Given the description of an element on the screen output the (x, y) to click on. 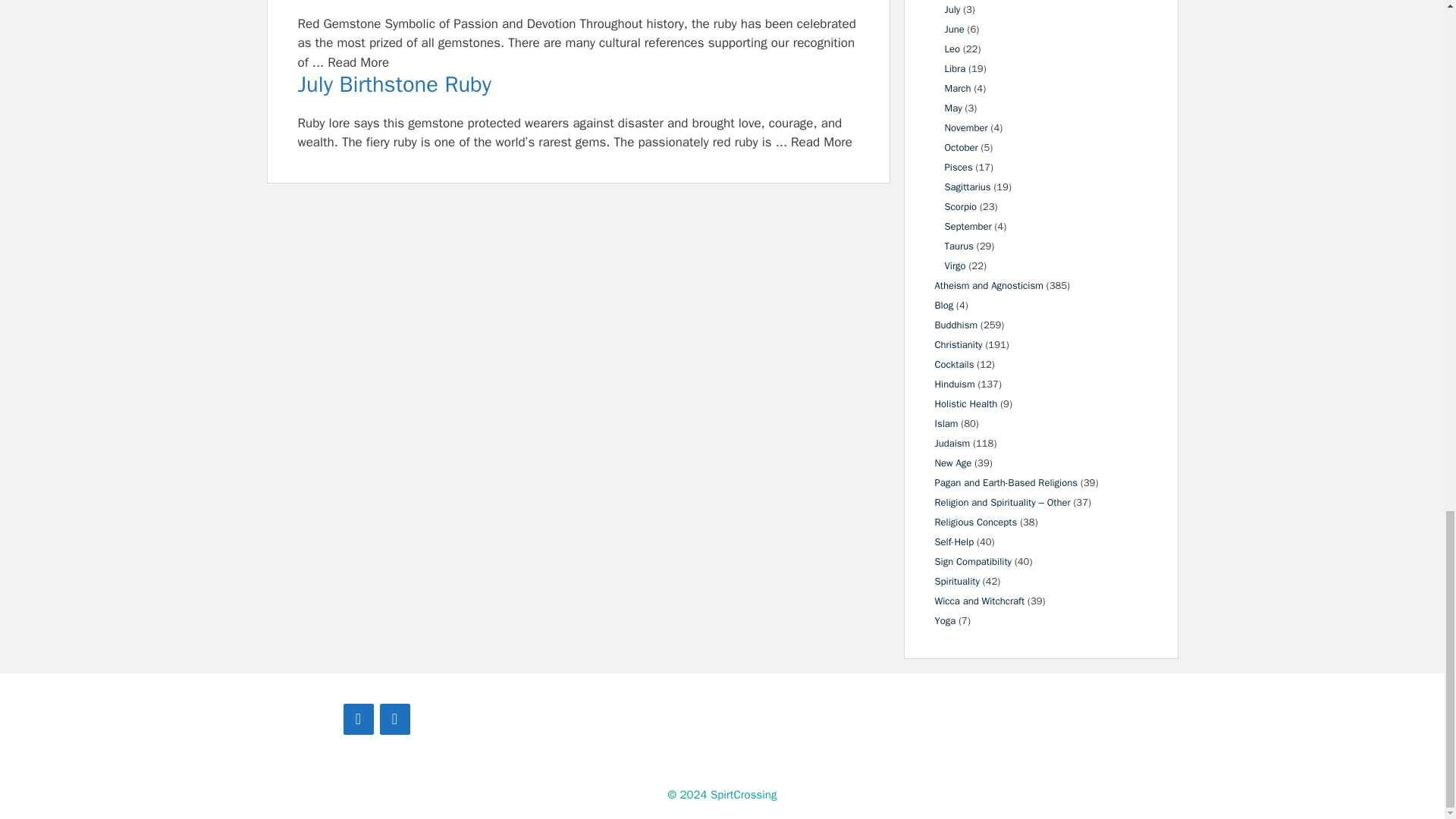
July Birthstone Ruby (578, 85)
Facebook (357, 718)
Twitter (393, 718)
